Given the description of an element on the screen output the (x, y) to click on. 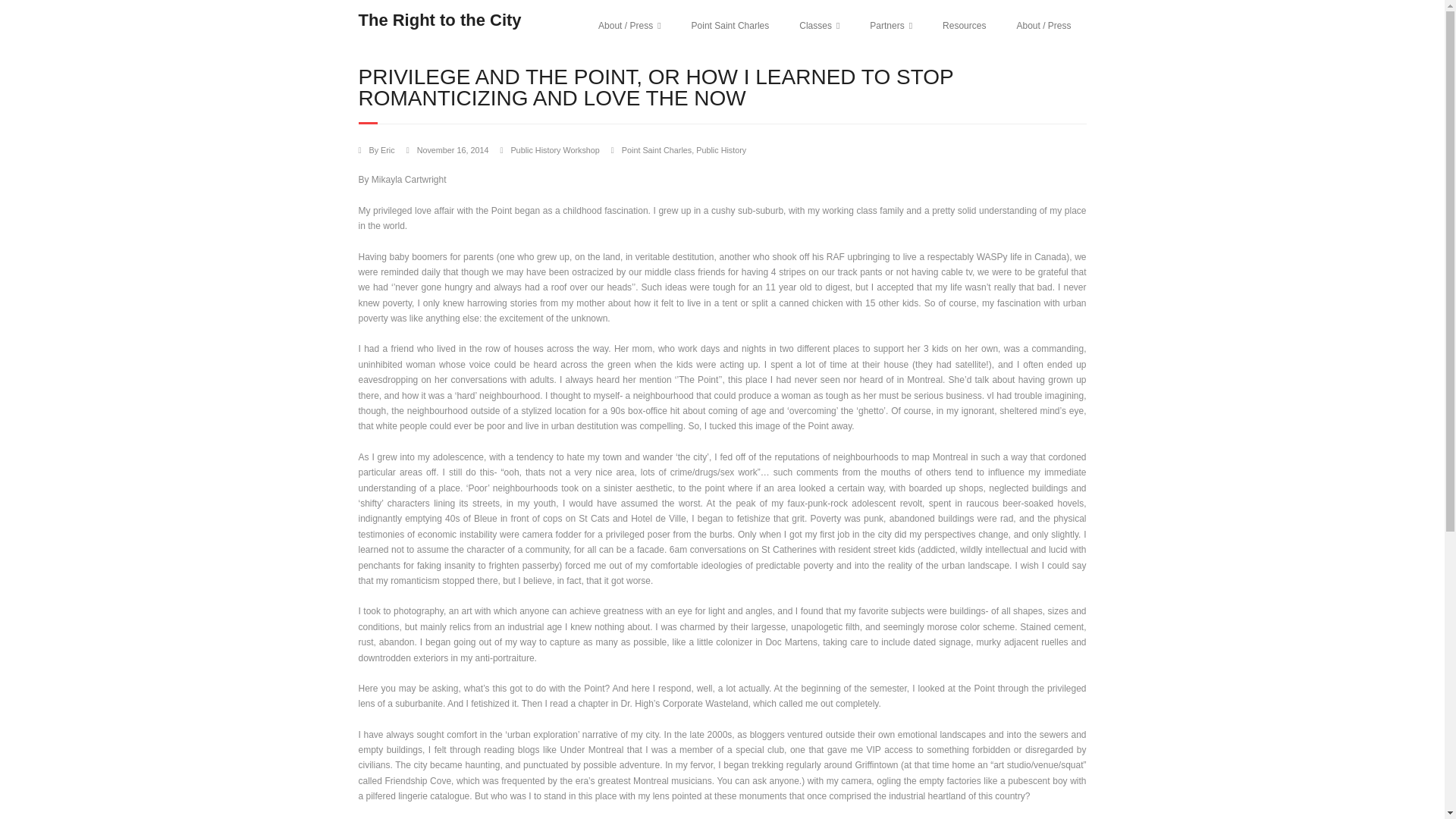
Eric (387, 149)
Classes (819, 25)
Point Saint Charles (656, 149)
Partners (890, 25)
The Right to the City (439, 19)
Public History Workshop (554, 149)
Point Saint Charles (730, 25)
Resources (964, 25)
November 16, 2014 (452, 149)
The Right to the City (439, 19)
View all posts by Eric (387, 149)
